Given the description of an element on the screen output the (x, y) to click on. 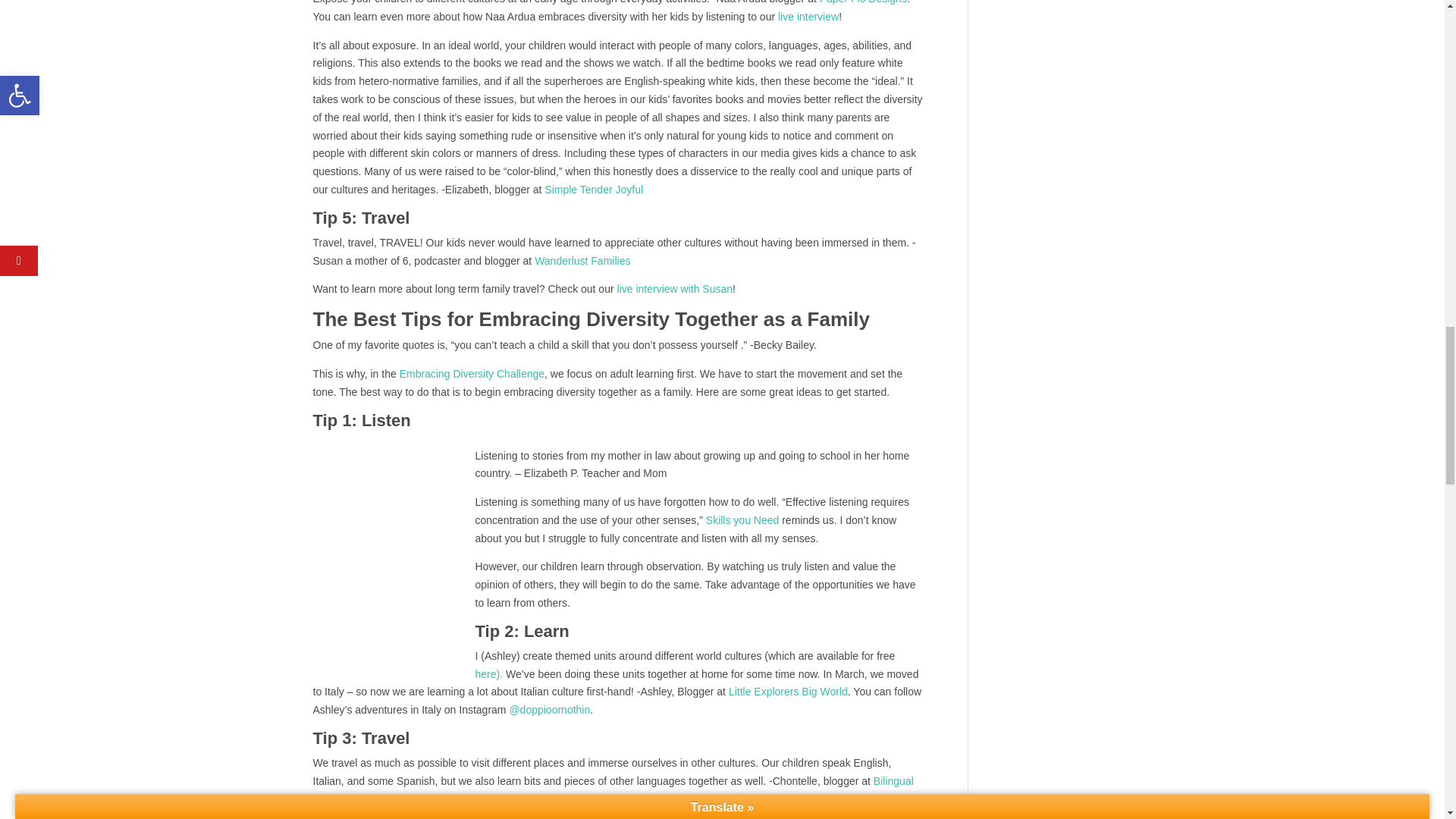
Embracing Diversity Challenge (471, 373)
live interview (807, 16)
Simple Tender Joyful (593, 189)
Skills you Need (742, 520)
Little Explorers Big World (788, 691)
live interview with Susan (675, 288)
Wanderlust Families (582, 260)
Paper Flo Designs (863, 2)
Bilingual Kid Spot (612, 789)
